Given the description of an element on the screen output the (x, y) to click on. 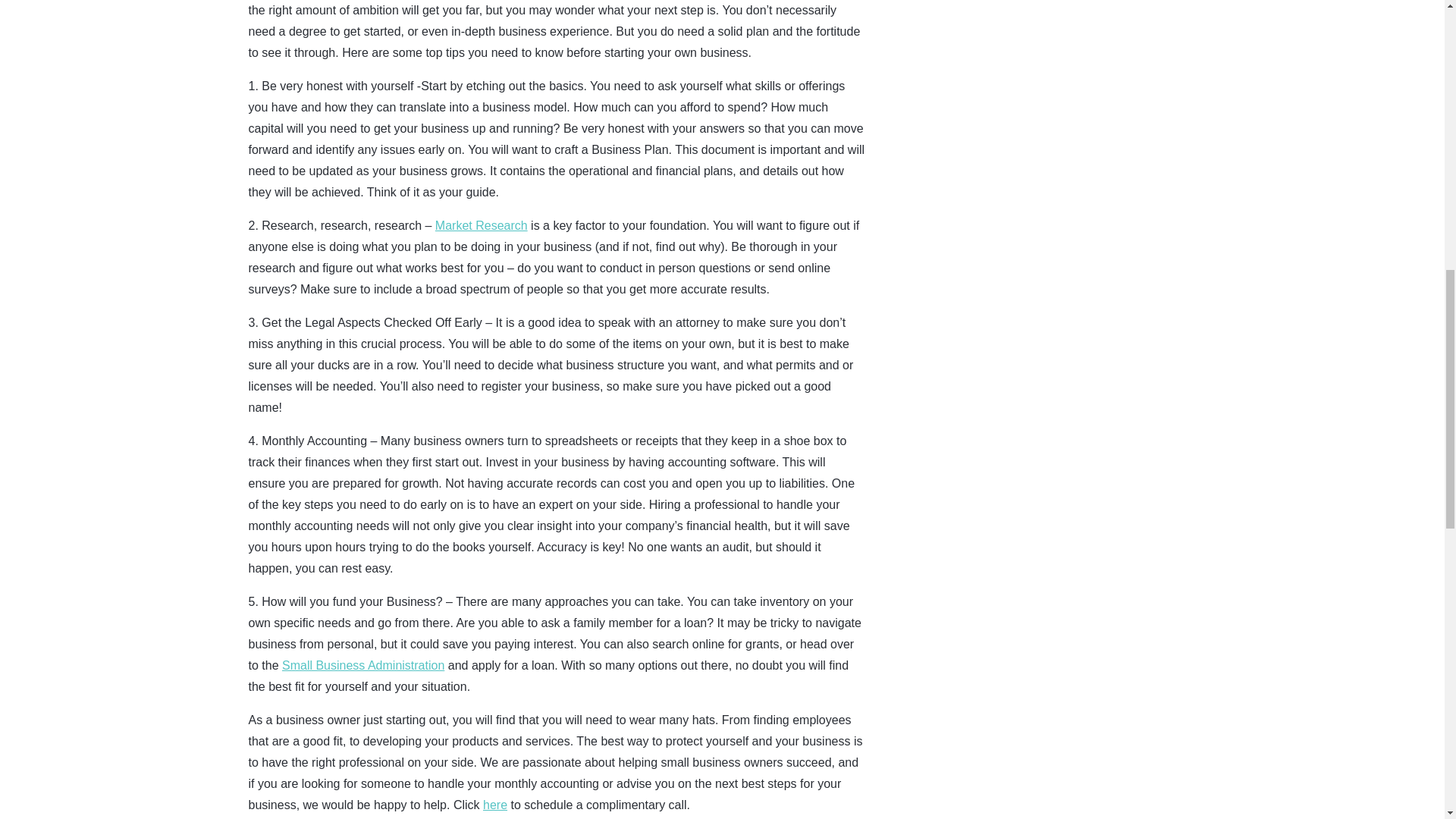
Market Research (481, 225)
here (494, 804)
Small Business Administration (363, 665)
